Given the description of an element on the screen output the (x, y) to click on. 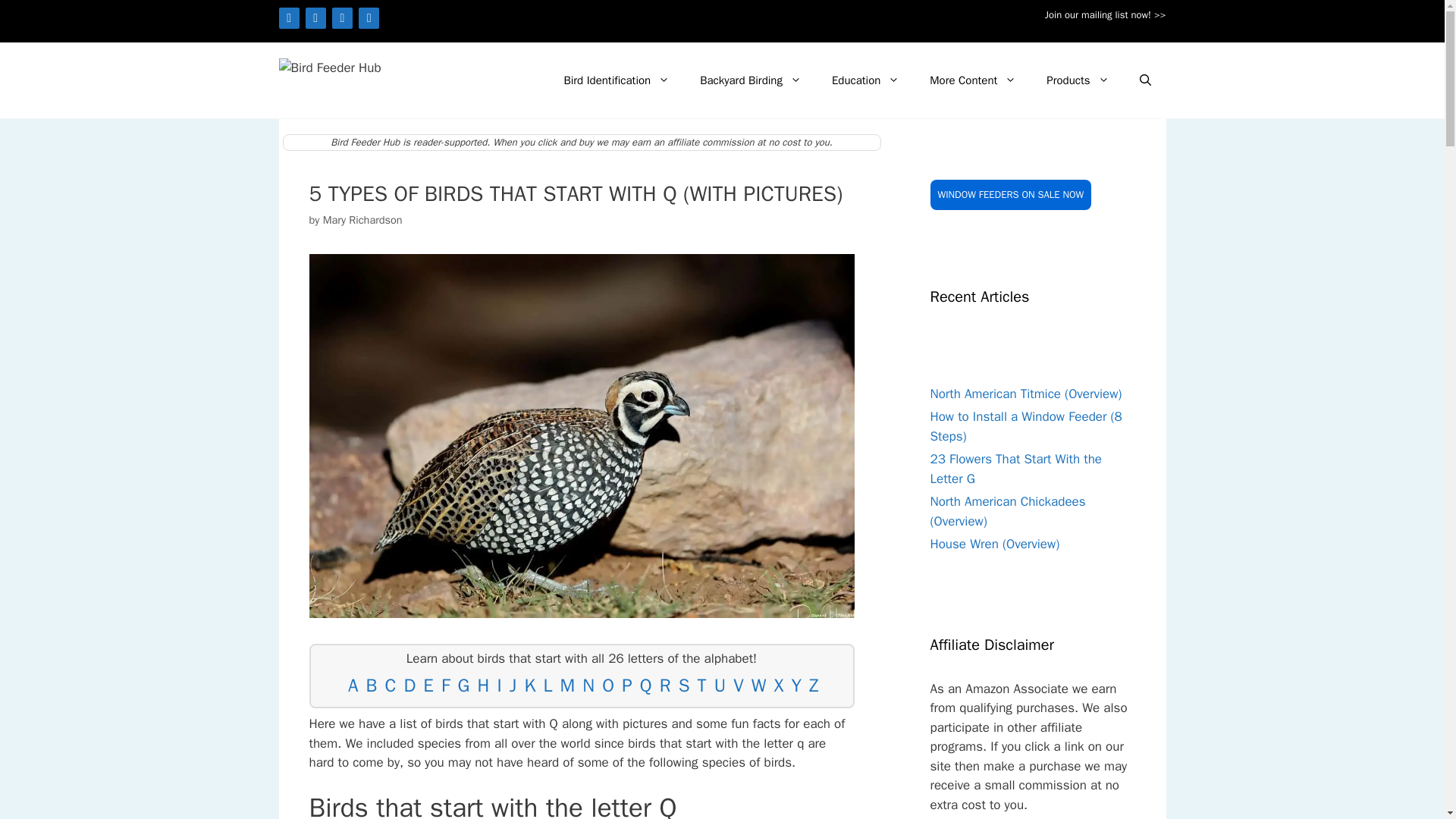
Instagram (315, 17)
Facebook (289, 17)
Backyard Birding (750, 80)
YouTube (368, 17)
Bird Identification (616, 80)
Pinterest (341, 17)
Education (865, 80)
More Content (972, 80)
